Given the description of an element on the screen output the (x, y) to click on. 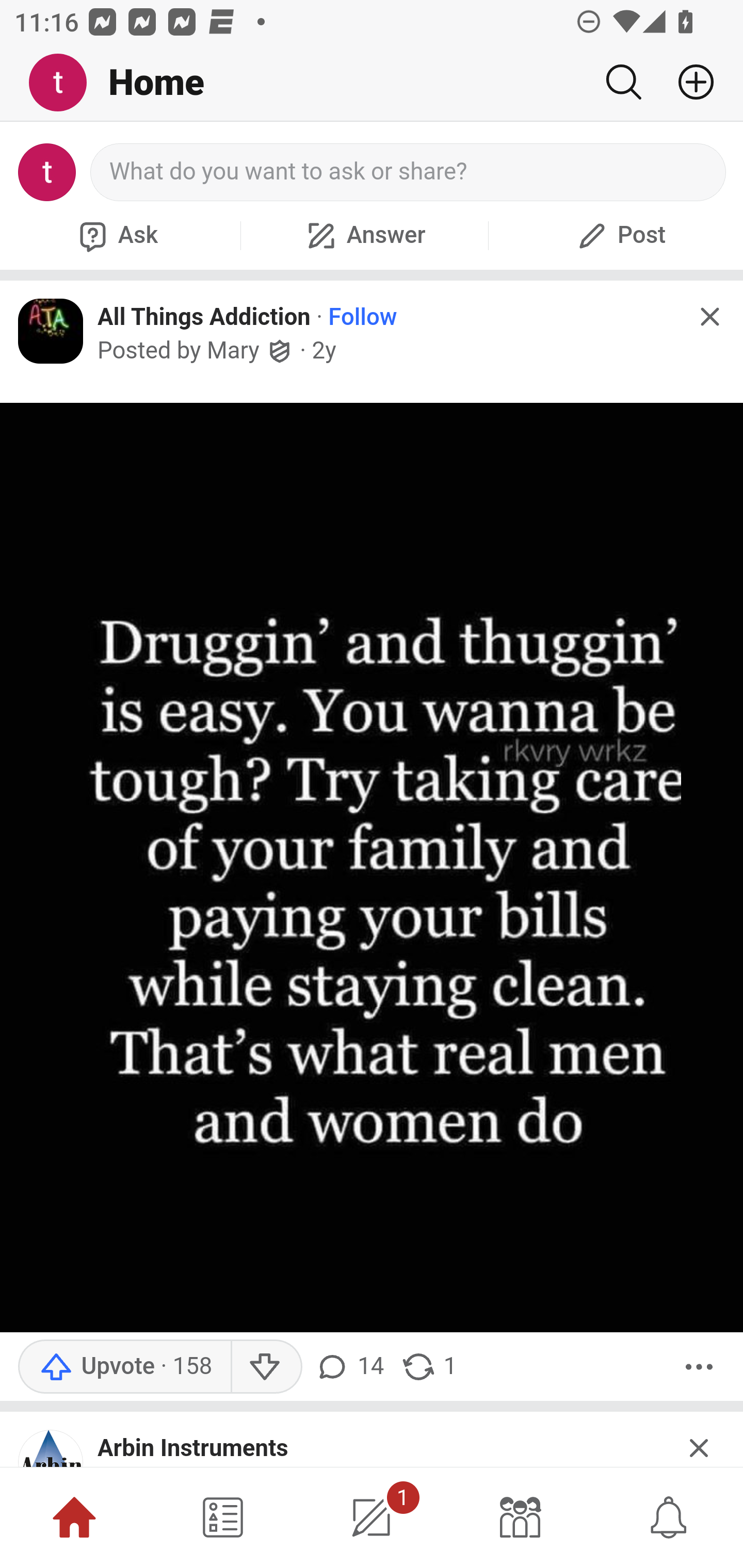
Me (64, 83)
Search (623, 82)
Add (688, 82)
What do you want to ask or share? (408, 172)
Ask (116, 234)
Answer (364, 234)
Post (618, 234)
Hide (709, 316)
Icon for All Things Addiction (50, 330)
All Things Addiction (204, 315)
Follow (362, 316)
Upvote (124, 1366)
Downvote (266, 1366)
14 comments (352, 1366)
1 share (428, 1366)
More (699, 1366)
Hide (699, 1440)
Arbin Instruments (193, 1448)
1 (371, 1517)
